Given the description of an element on the screen output the (x, y) to click on. 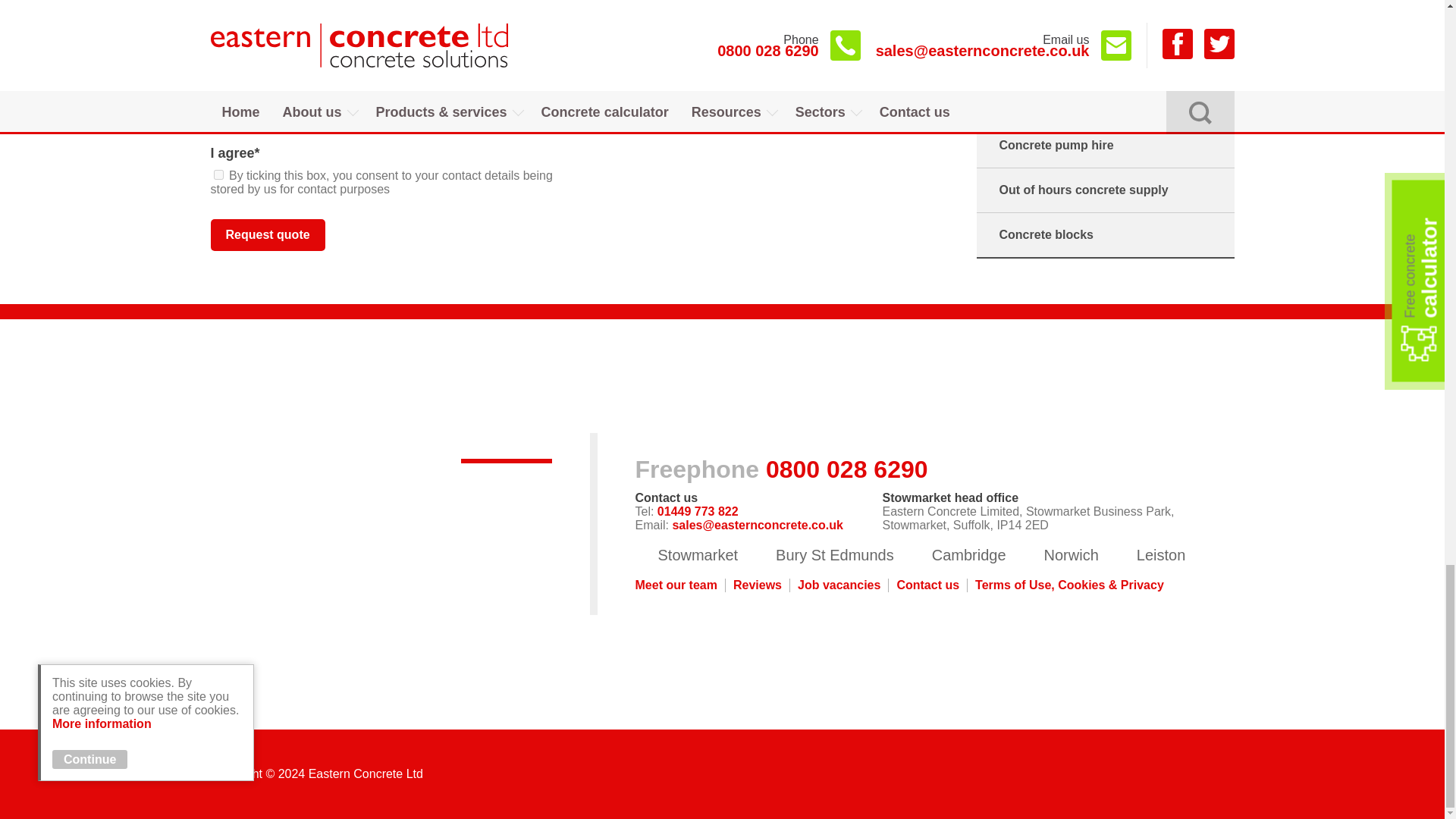
Social media (219, 111)
Existing customer (219, 65)
Word of mouth (219, 80)
Request quote (267, 234)
Other (219, 126)
